Given the description of an element on the screen output the (x, y) to click on. 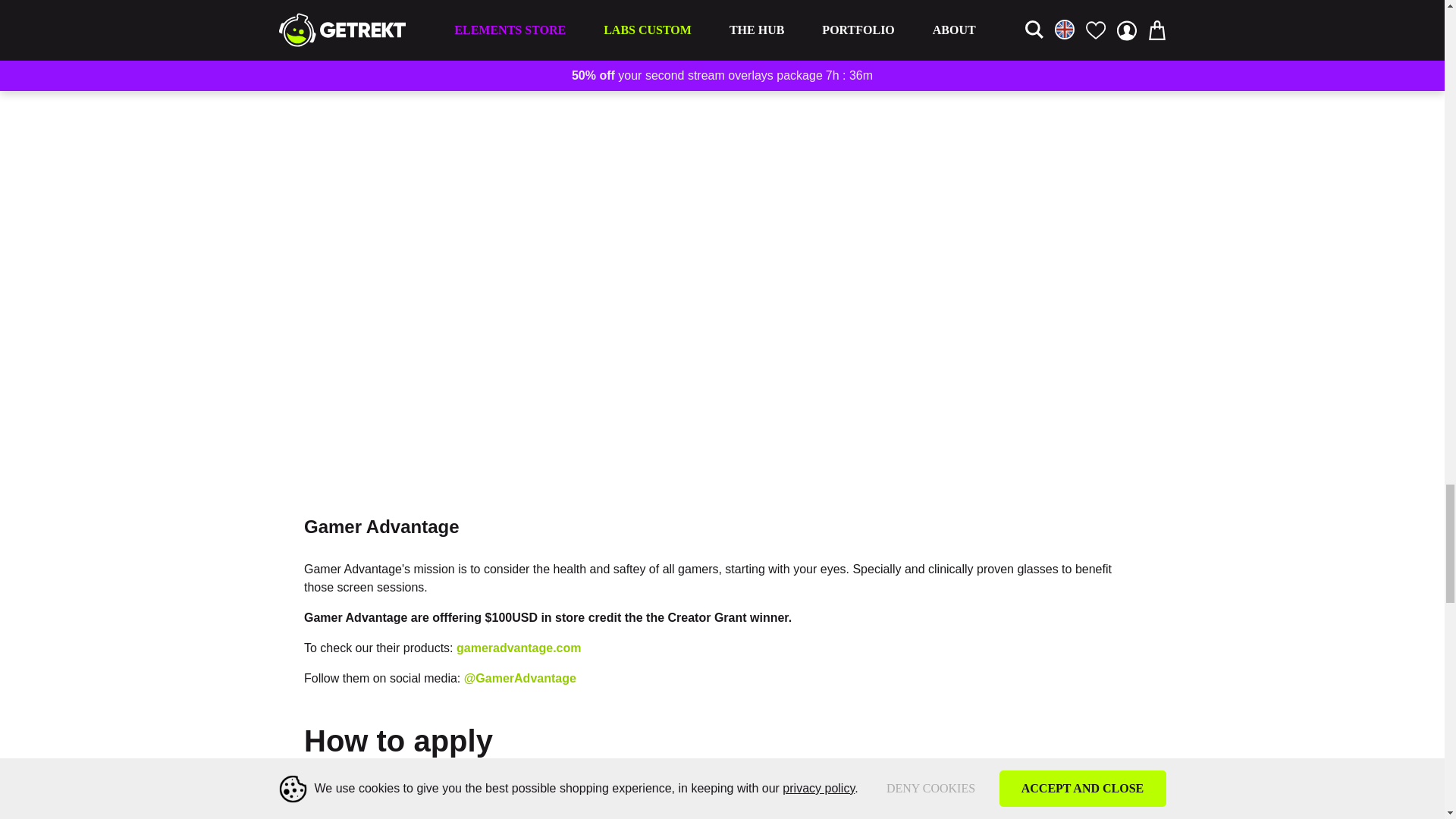
gameradvantage.com (518, 647)
